Given the description of an element on the screen output the (x, y) to click on. 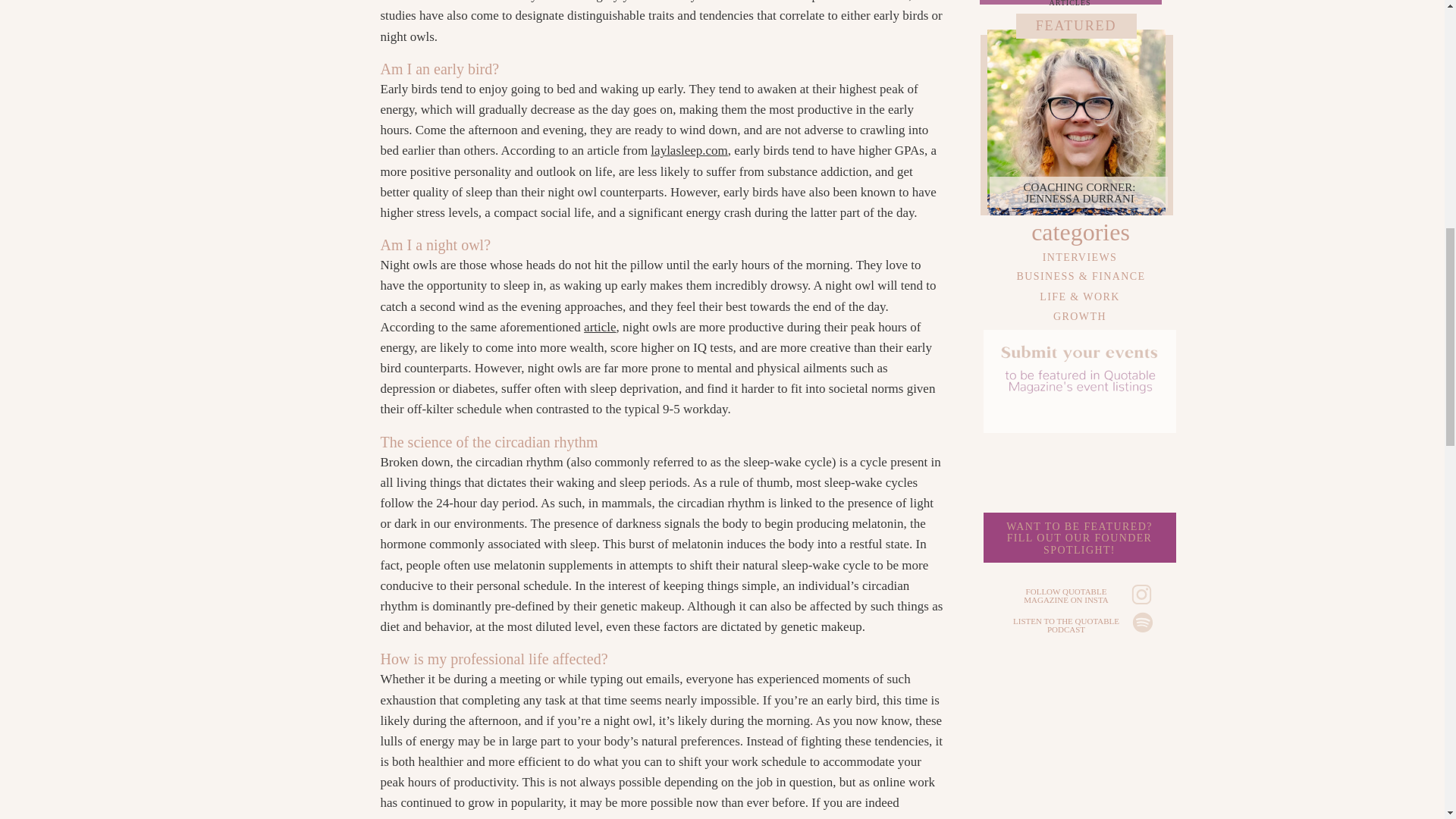
article (599, 327)
laylasleep.com (1078, 541)
GROWTH (689, 150)
INTERVIEWS (1079, 314)
